Given the description of an element on the screen output the (x, y) to click on. 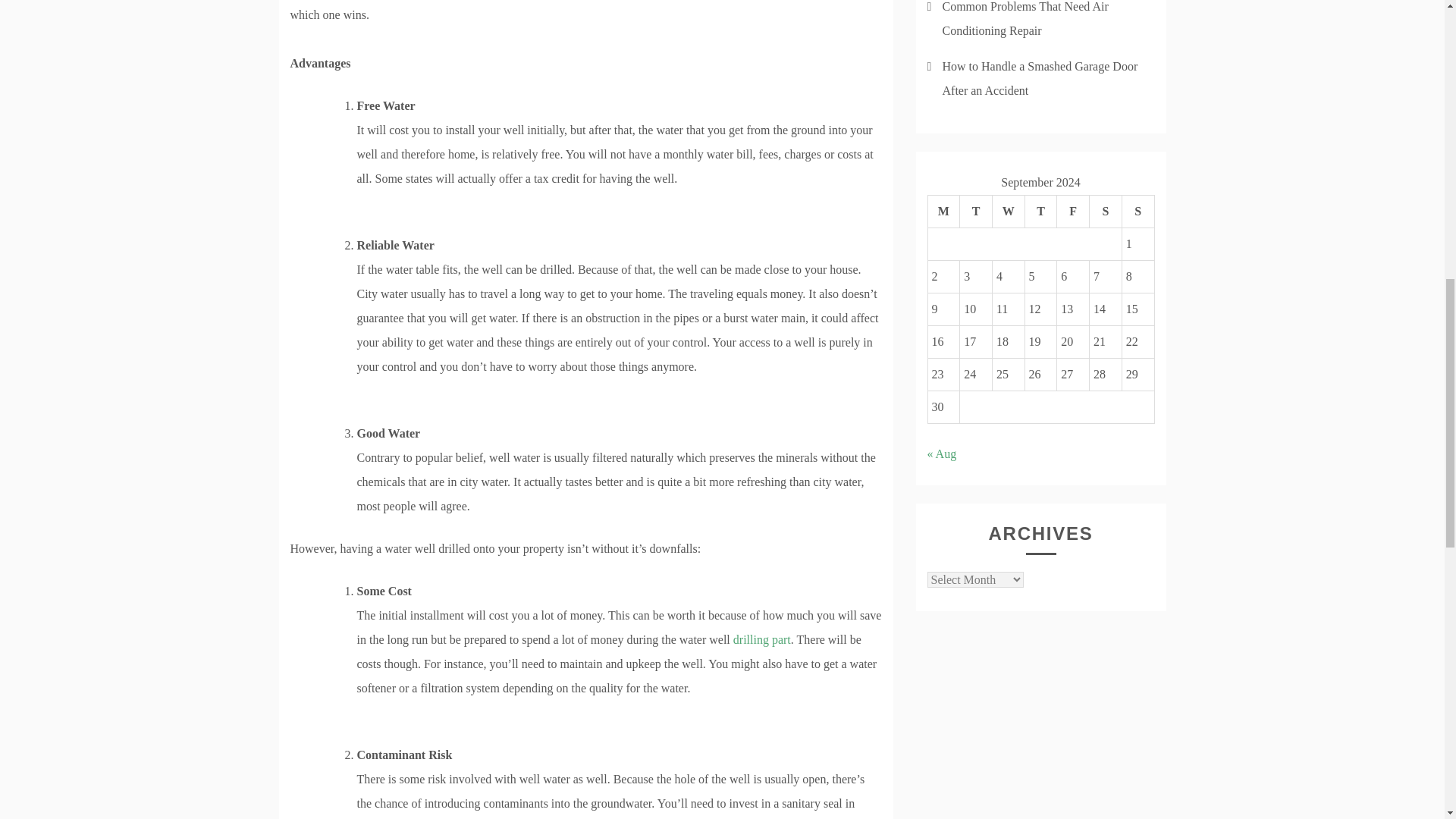
Wednesday (1008, 211)
Tuesday (975, 211)
Monday (943, 211)
Saturday (1105, 211)
Sunday (1137, 211)
Friday (1073, 211)
Common Problems That Need Air Conditioning Repair (1025, 18)
How to Handle a Smashed Garage Door After an Accident (1039, 78)
Thursday (1041, 211)
drilling part (761, 639)
